Given the description of an element on the screen output the (x, y) to click on. 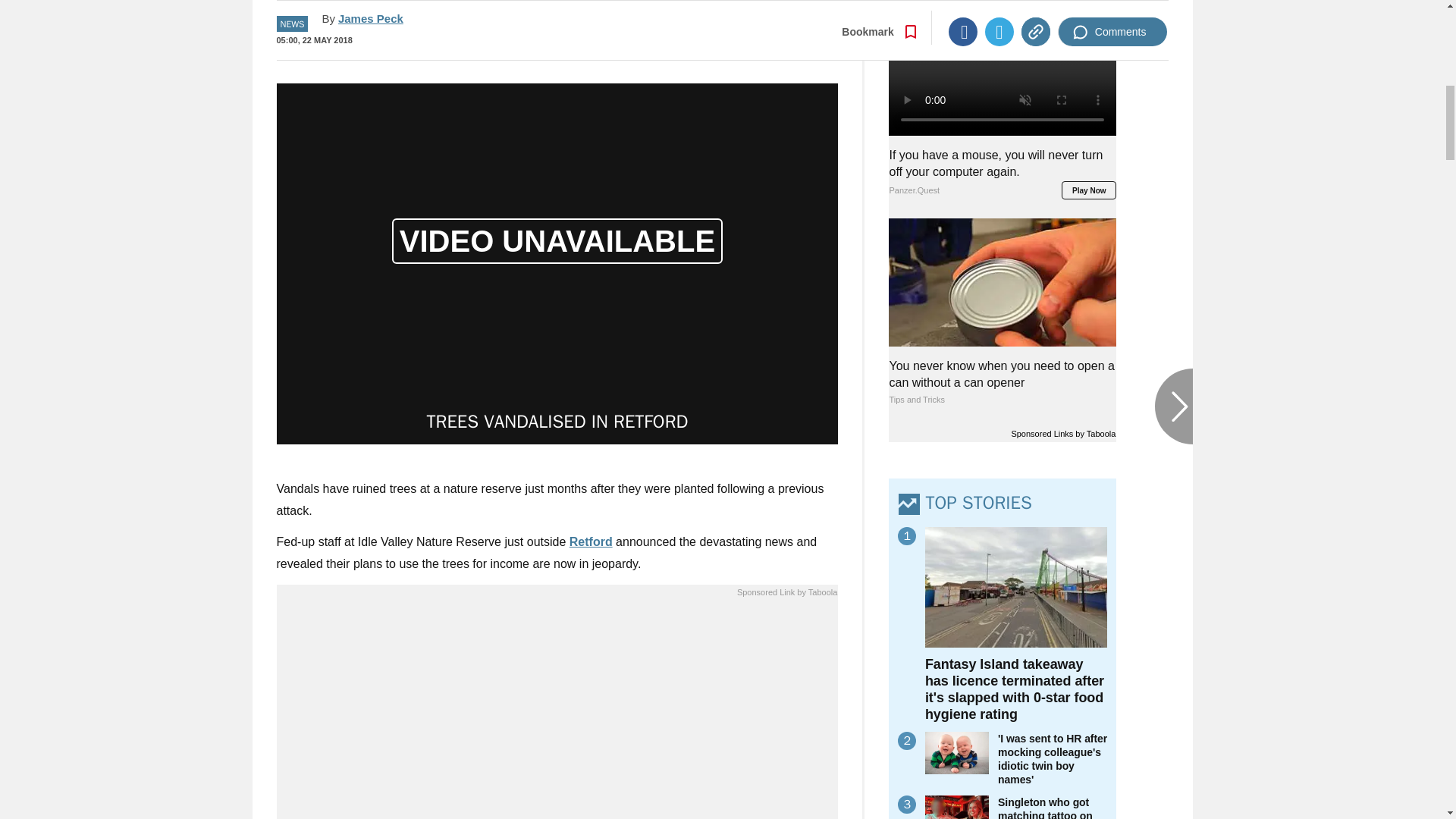
What is your writing missing? (557, 712)
Go (730, 34)
